Given the description of an element on the screen output the (x, y) to click on. 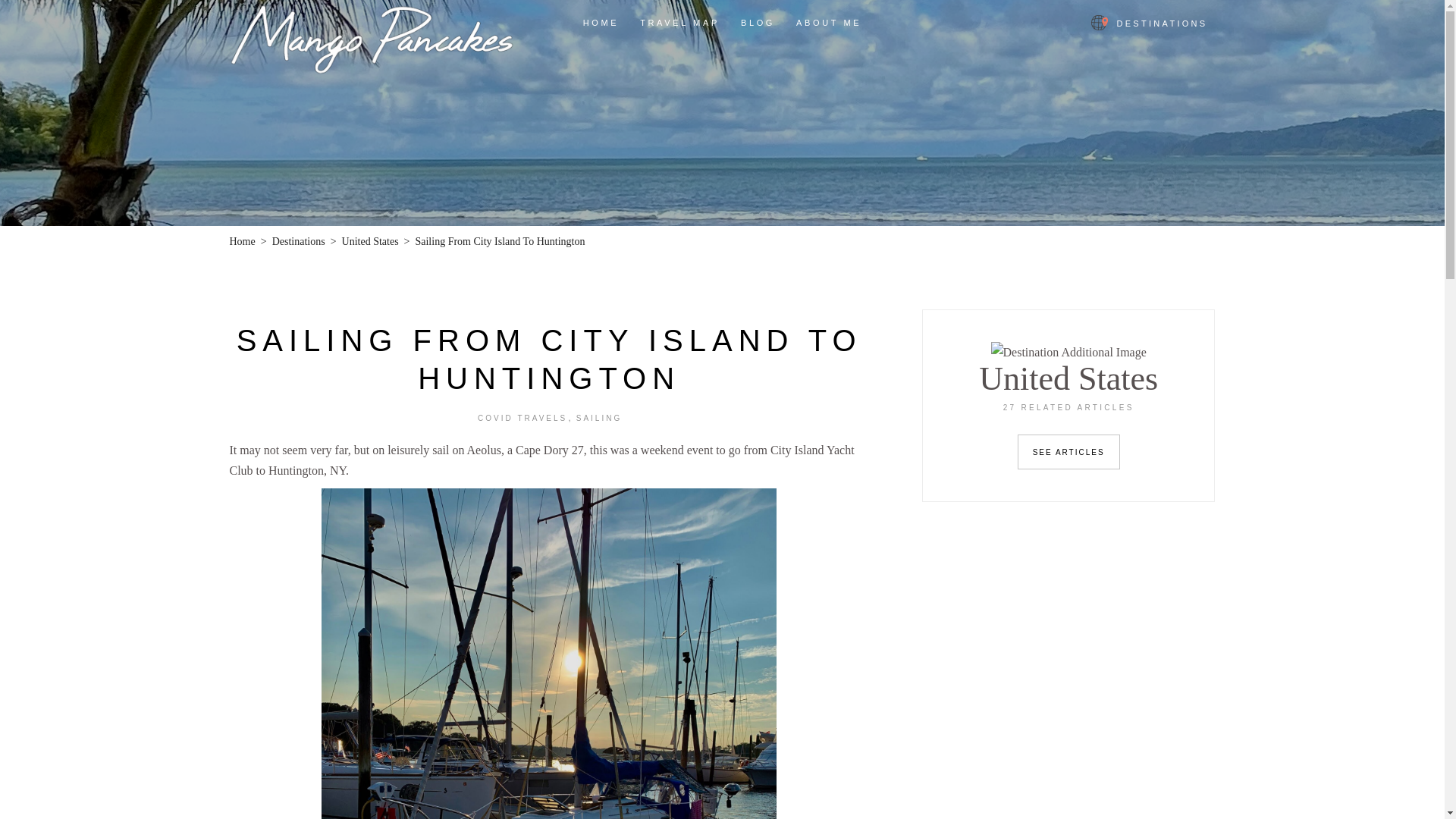
HOME (601, 22)
DESTINATIONS (1148, 22)
ABOUT ME (829, 22)
TRAVEL MAP (679, 22)
BLOG (758, 22)
